Given the description of an element on the screen output the (x, y) to click on. 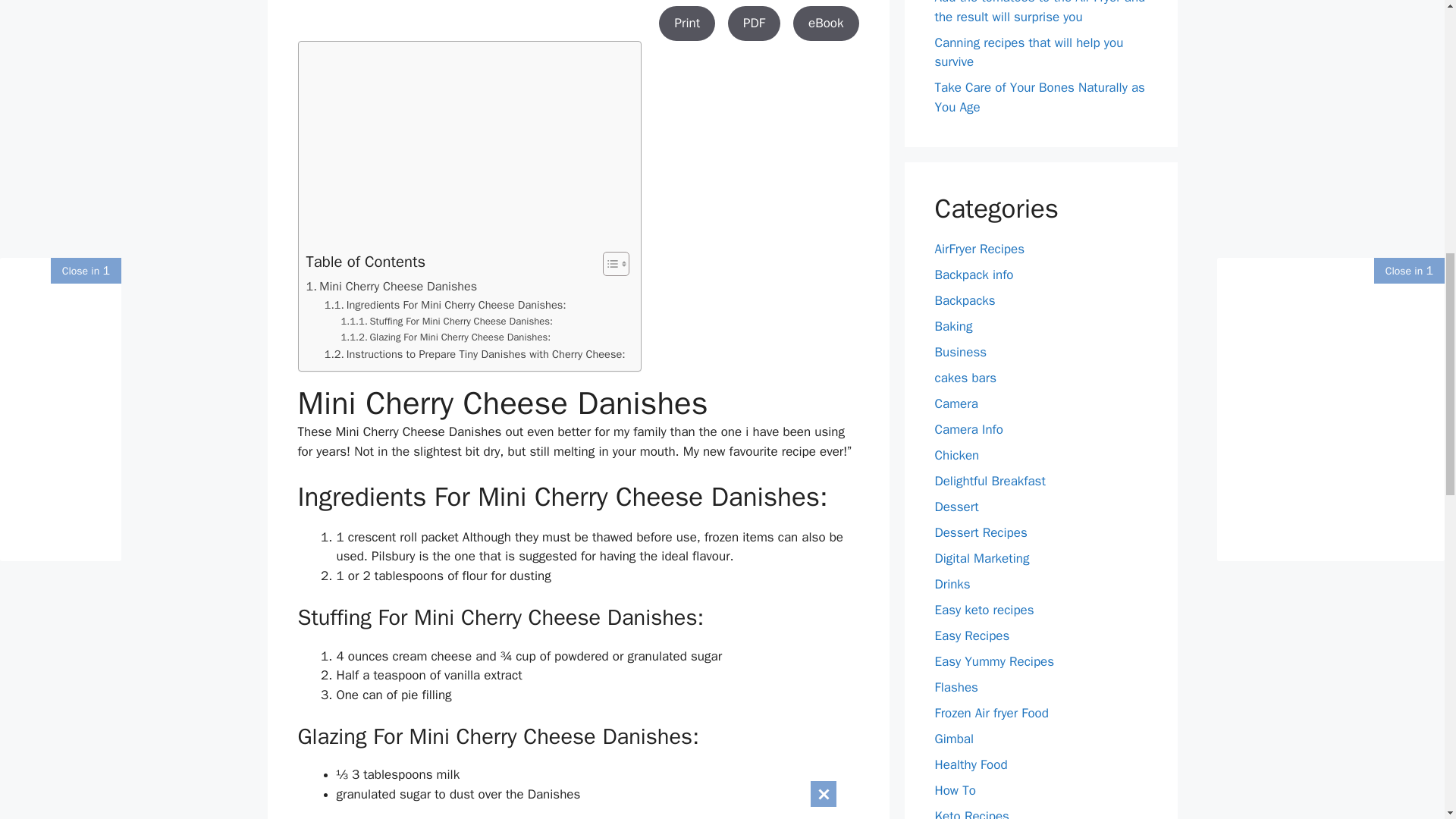
Mini Cherry Cheese Danishes (391, 286)
Instructions to Prepare Tiny Danishes with Cherry Cheese: (475, 354)
Stuffing For Mini Cherry Cheese Danishes: (446, 321)
Ingredients For Mini Cherry Cheese Danishes: (445, 304)
eBook (826, 22)
Stuffing For Mini Cherry Cheese Danishes: (446, 321)
PDF (754, 22)
Mini Cherry Cheese Danishes (391, 286)
Print (686, 22)
Instructions to Prepare Tiny Danishes with Cherry Cheese: (475, 354)
